Given the description of an element on the screen output the (x, y) to click on. 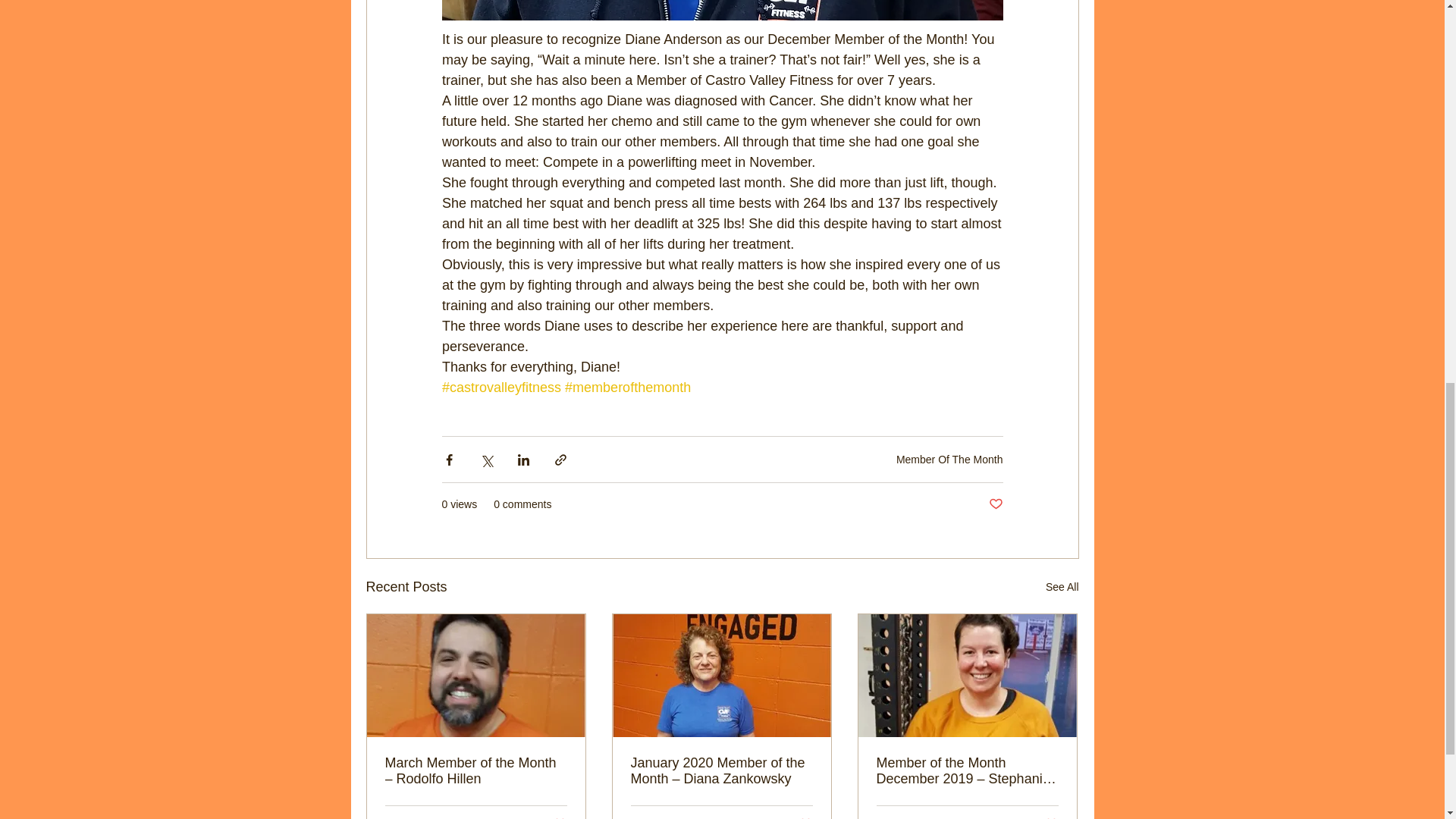
Post not marked as liked (558, 817)
Post not marked as liked (1050, 817)
See All (1061, 587)
0 (926, 818)
Post not marked as liked (804, 817)
Post not marked as liked (995, 504)
0 (681, 818)
0 (435, 818)
Member Of The Month (949, 459)
